Given the description of an element on the screen output the (x, y) to click on. 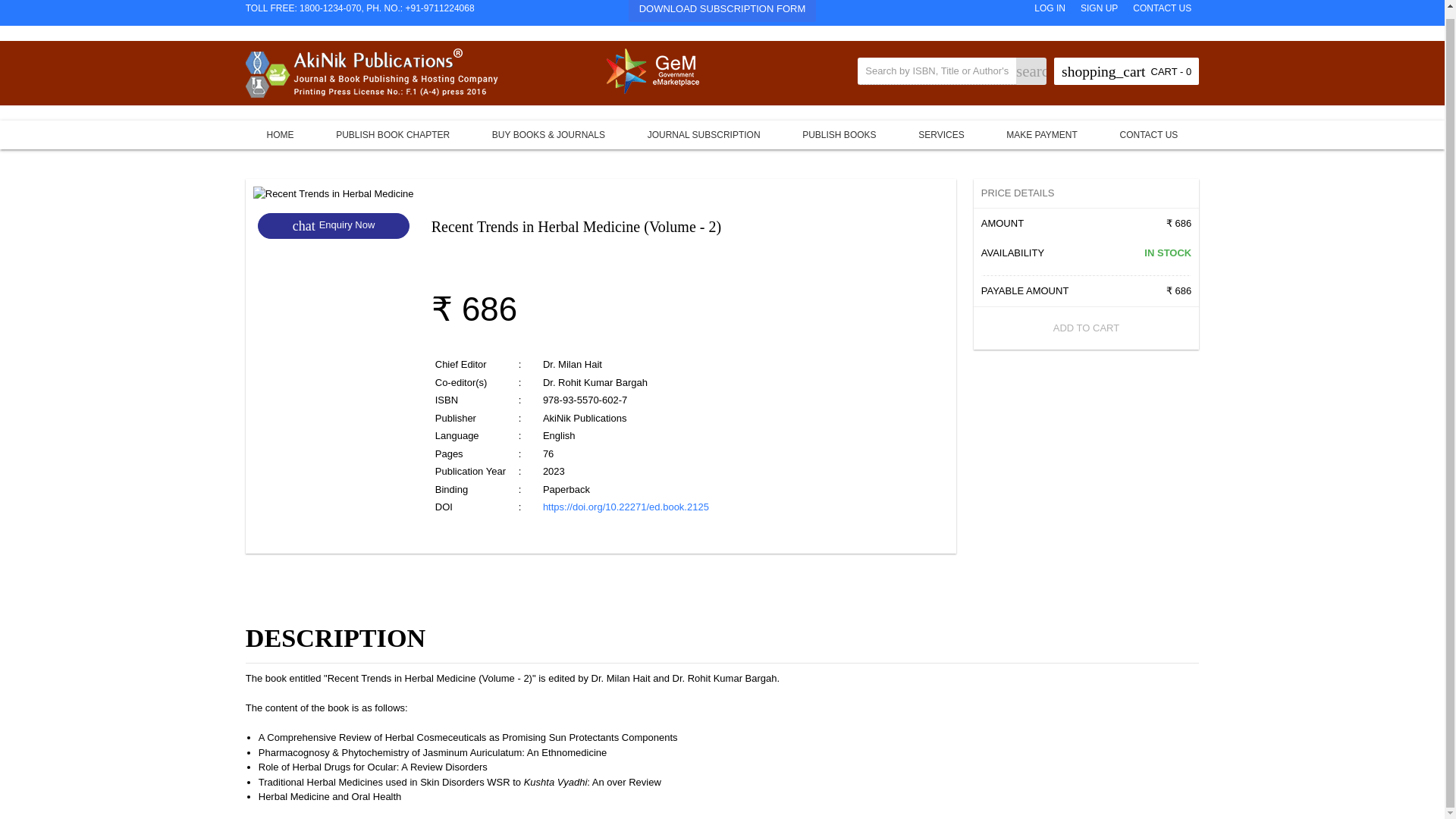
Services (940, 133)
Recent Trends in Herbal Medicine (333, 193)
Contact Us (1149, 133)
HOME (280, 133)
LOG IN (1049, 9)
SIGN UP (1099, 9)
search (1031, 71)
SERVICES (940, 133)
Publish Book Chapter (392, 133)
Publish Books (838, 133)
PUBLISH BOOKS (838, 133)
Home (280, 133)
PUBLISH BOOK CHAPTER (392, 133)
CONTACT US (1161, 9)
AkiNik Publications (371, 72)
